Given the description of an element on the screen output the (x, y) to click on. 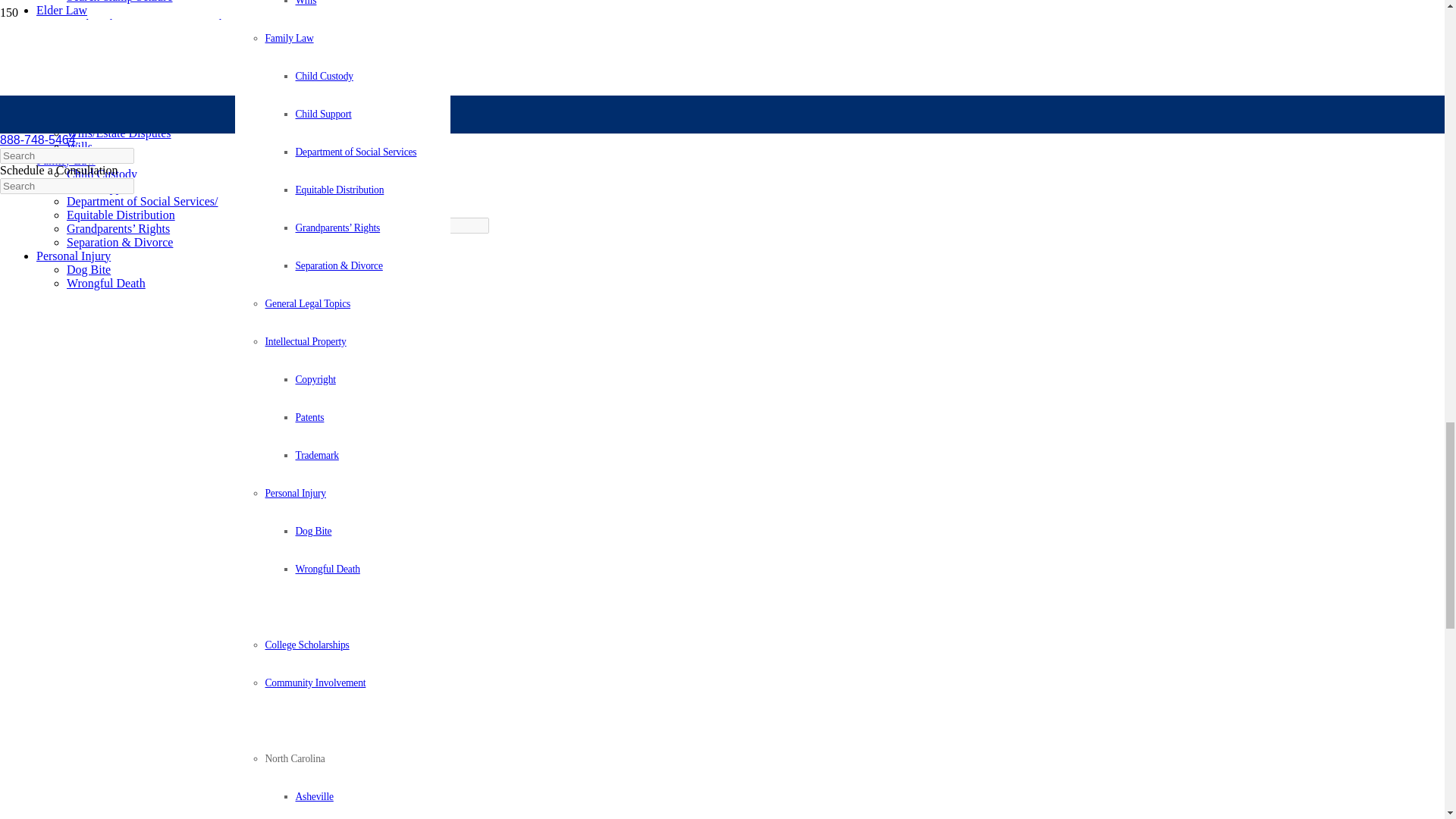
10-best-2015-icon-i (62, 709)
badge-avvo-rating (62, 359)
Reverse (137, 805)
Untitled-1 (62, 593)
1 (73, 476)
